Given the description of an element on the screen output the (x, y) to click on. 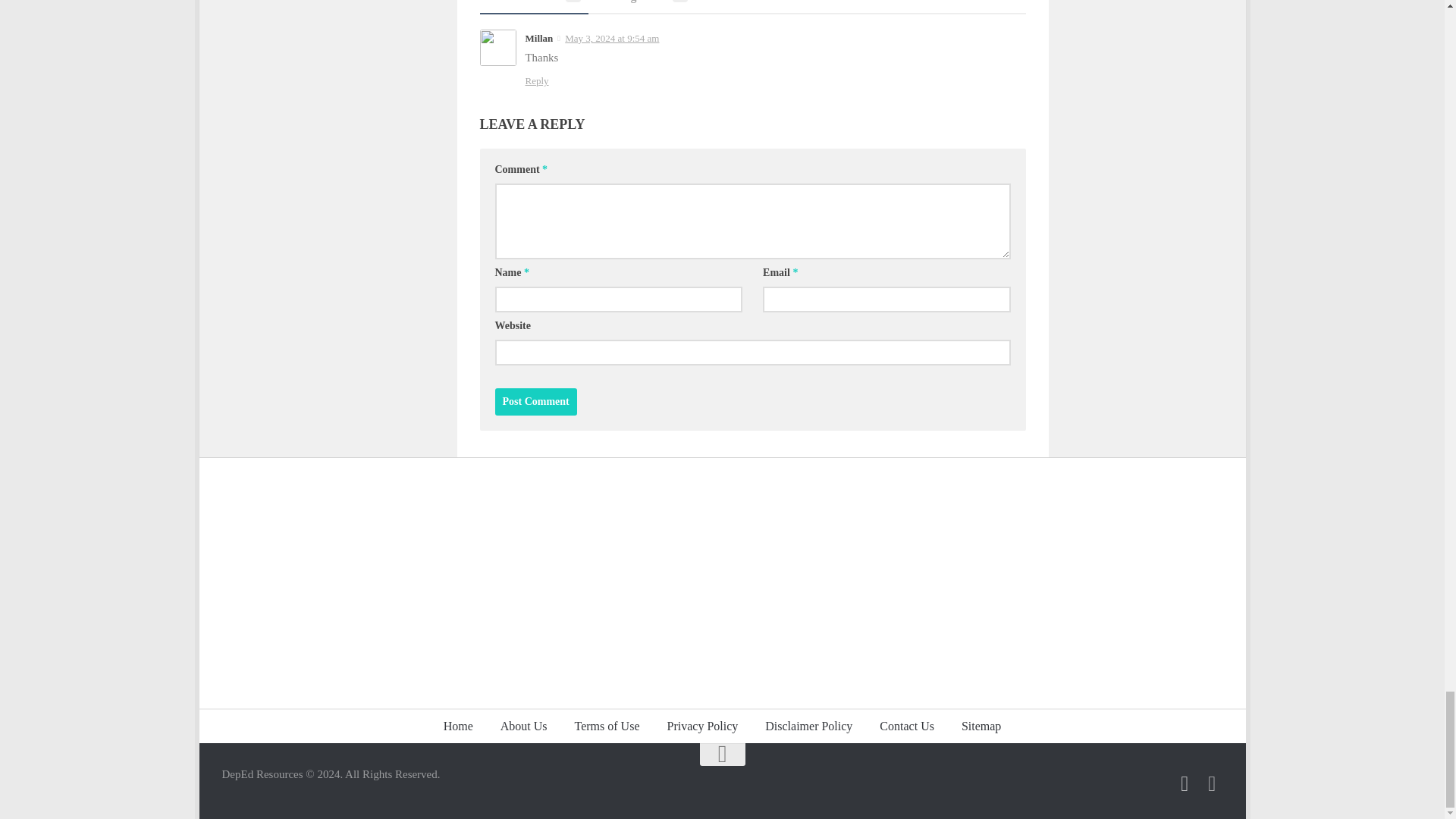
Follow us on Official Facebook Page (1184, 783)
Post Comment (535, 401)
JOIN the Discussion (1212, 783)
